Given the description of an element on the screen output the (x, y) to click on. 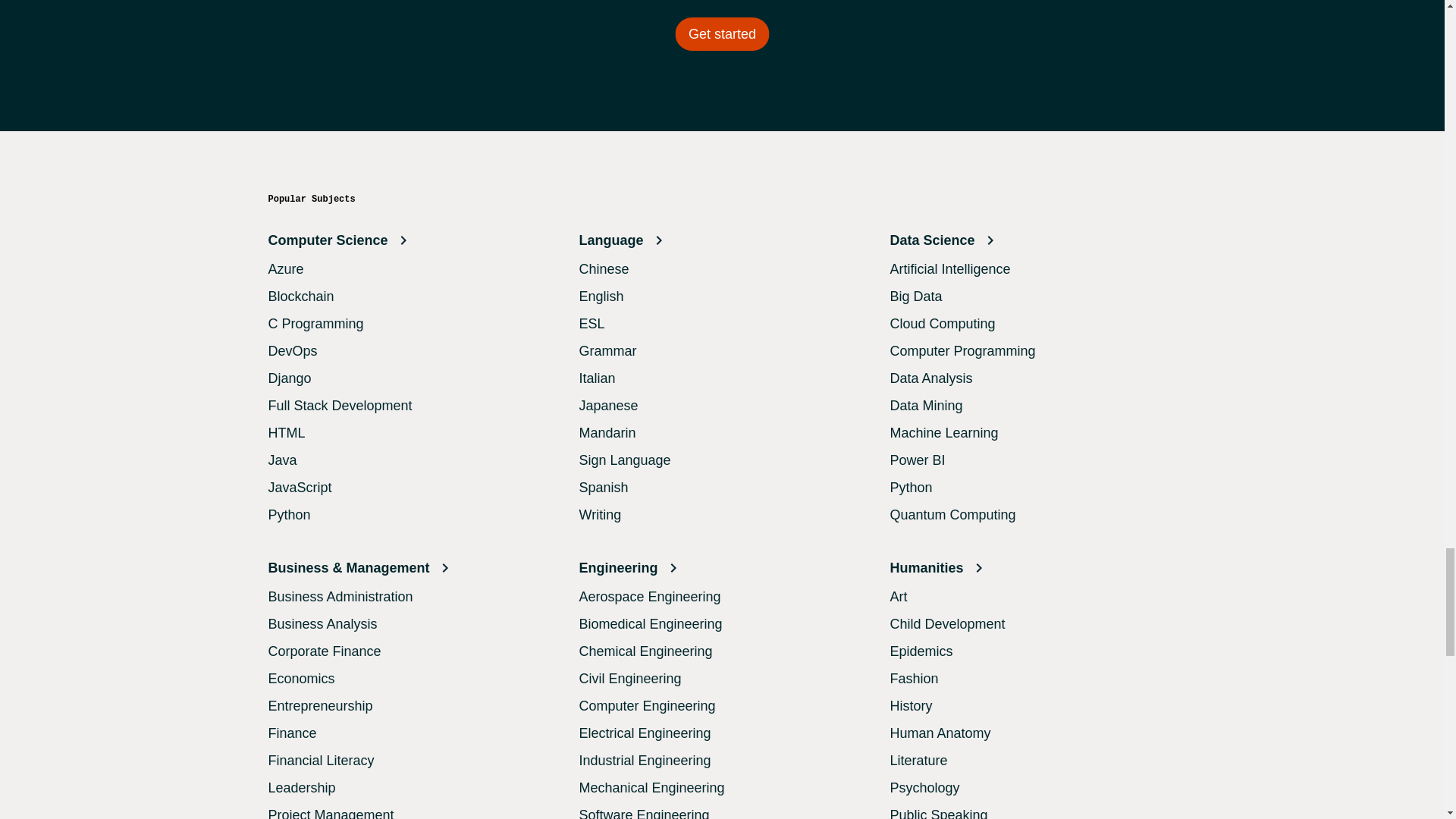
Get started (721, 33)
Computer Science (410, 239)
Azure (285, 268)
